Given the description of an element on the screen output the (x, y) to click on. 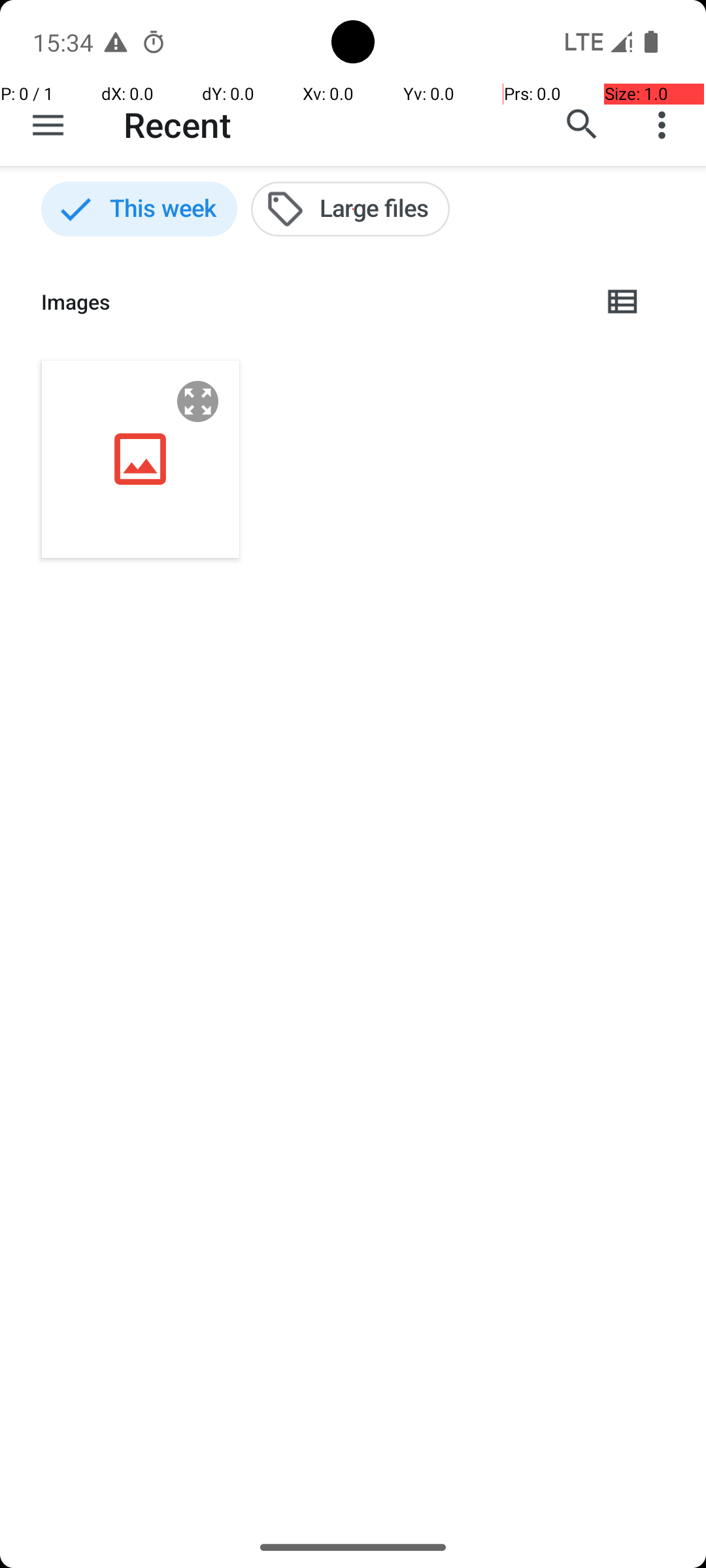
IMG_20231015_153414.jpg, 145 kB, 15:34 Element type: android.widget.LinearLayout (140, 458)
Preview the file IMG_20231015_153414.jpg Element type: android.widget.FrameLayout (197, 401)
